Given the description of an element on the screen output the (x, y) to click on. 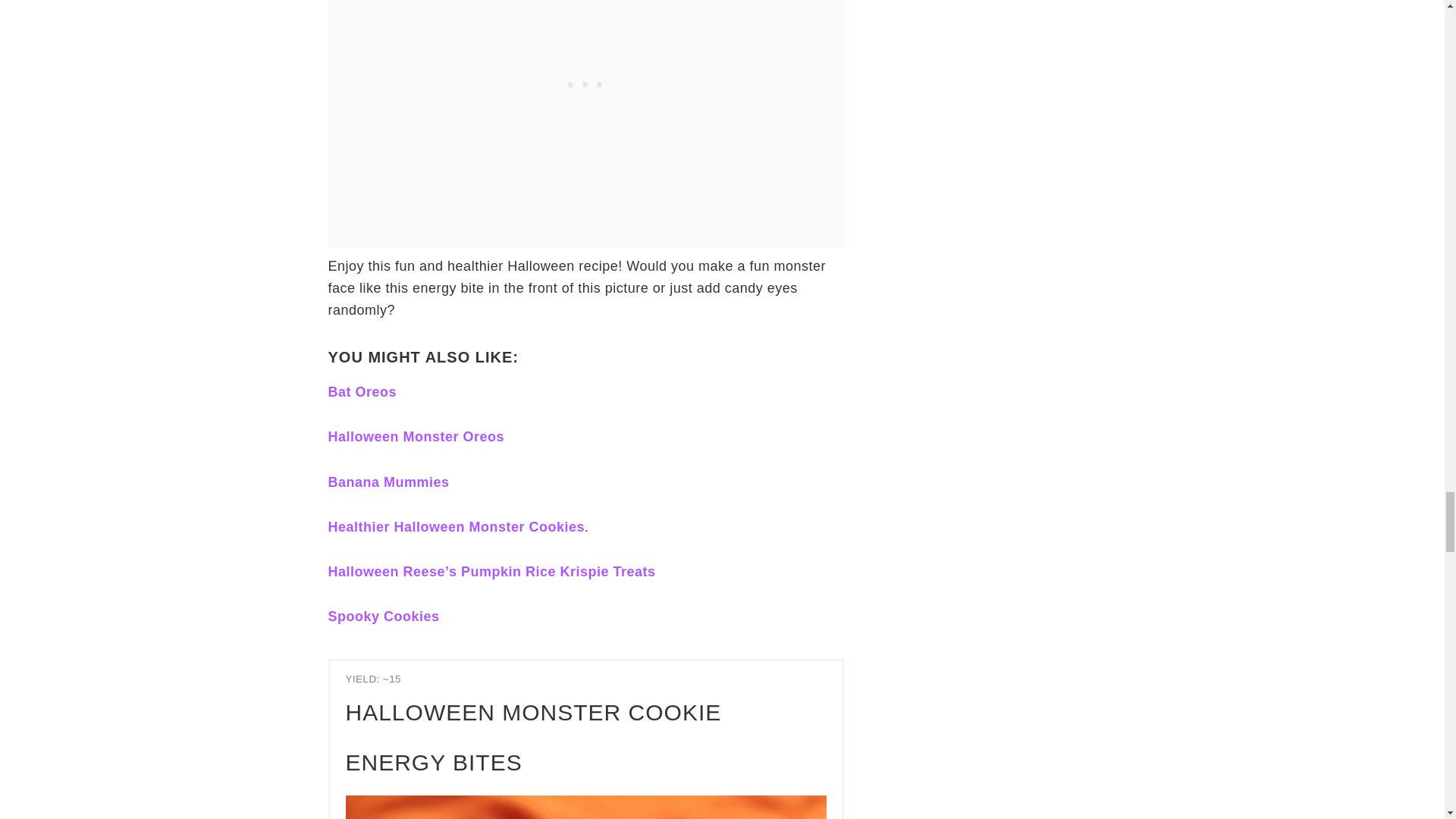
Halloween Monster Oreos (415, 436)
Healthier Halloween Monster Cookies (456, 526)
Spooky Cookies (383, 616)
Bat Oreos (361, 391)
Banana Mummies (387, 482)
